Given the description of an element on the screen output the (x, y) to click on. 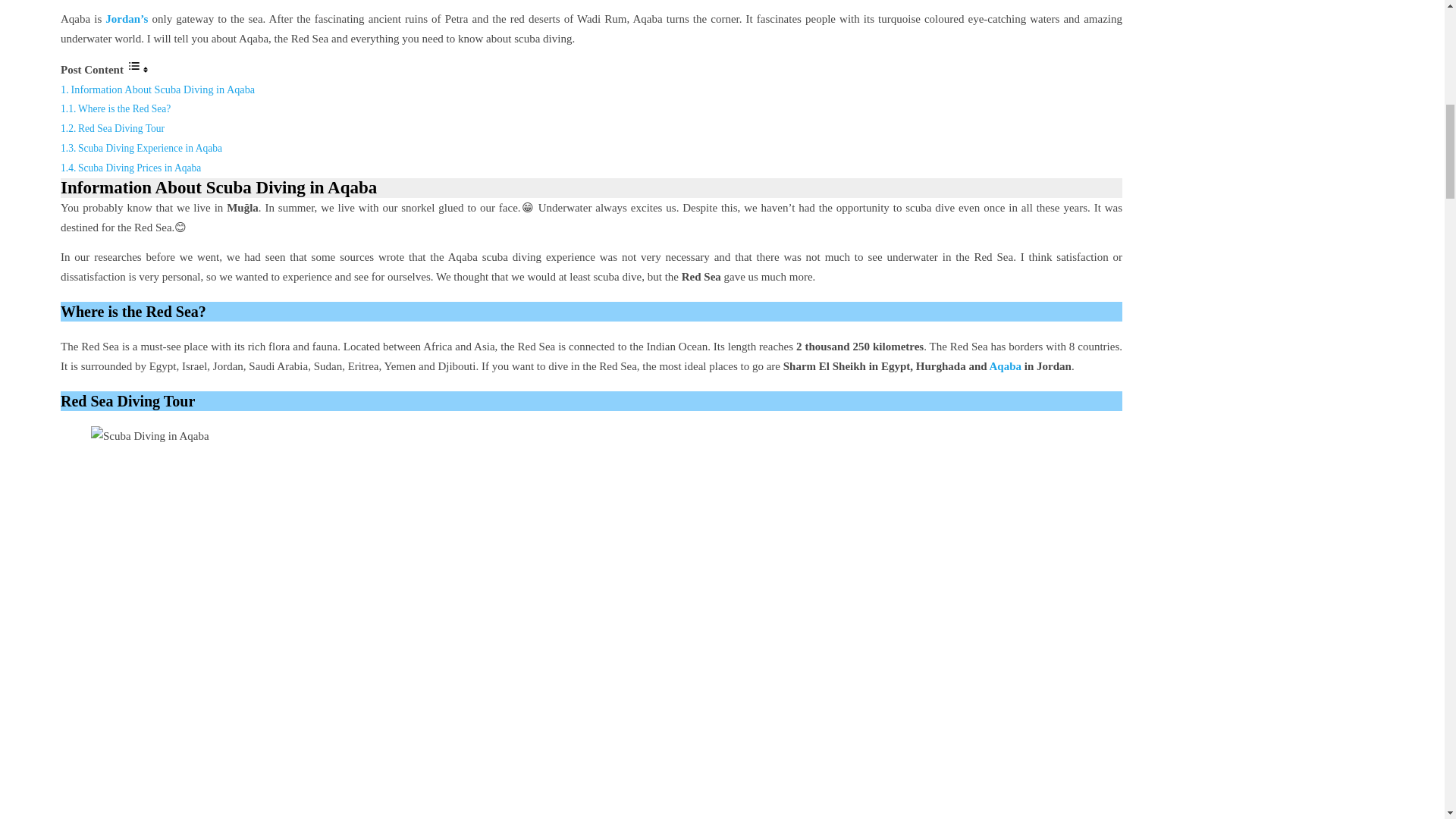
Information About Scuba Diving in Aqaba (163, 89)
Aqaba (1005, 366)
Red Sea Diving Tour (121, 128)
Red Sea Diving Tour (121, 128)
Scuba Diving Experience in Aqaba (150, 147)
Where is the Red Sea? (124, 108)
Where is the Red Sea? (124, 108)
Scuba Diving Prices in Aqaba (139, 167)
Scuba Diving Prices in Aqaba (139, 167)
Scuba Diving Experience in Aqaba (150, 147)
